Given the description of an element on the screen output the (x, y) to click on. 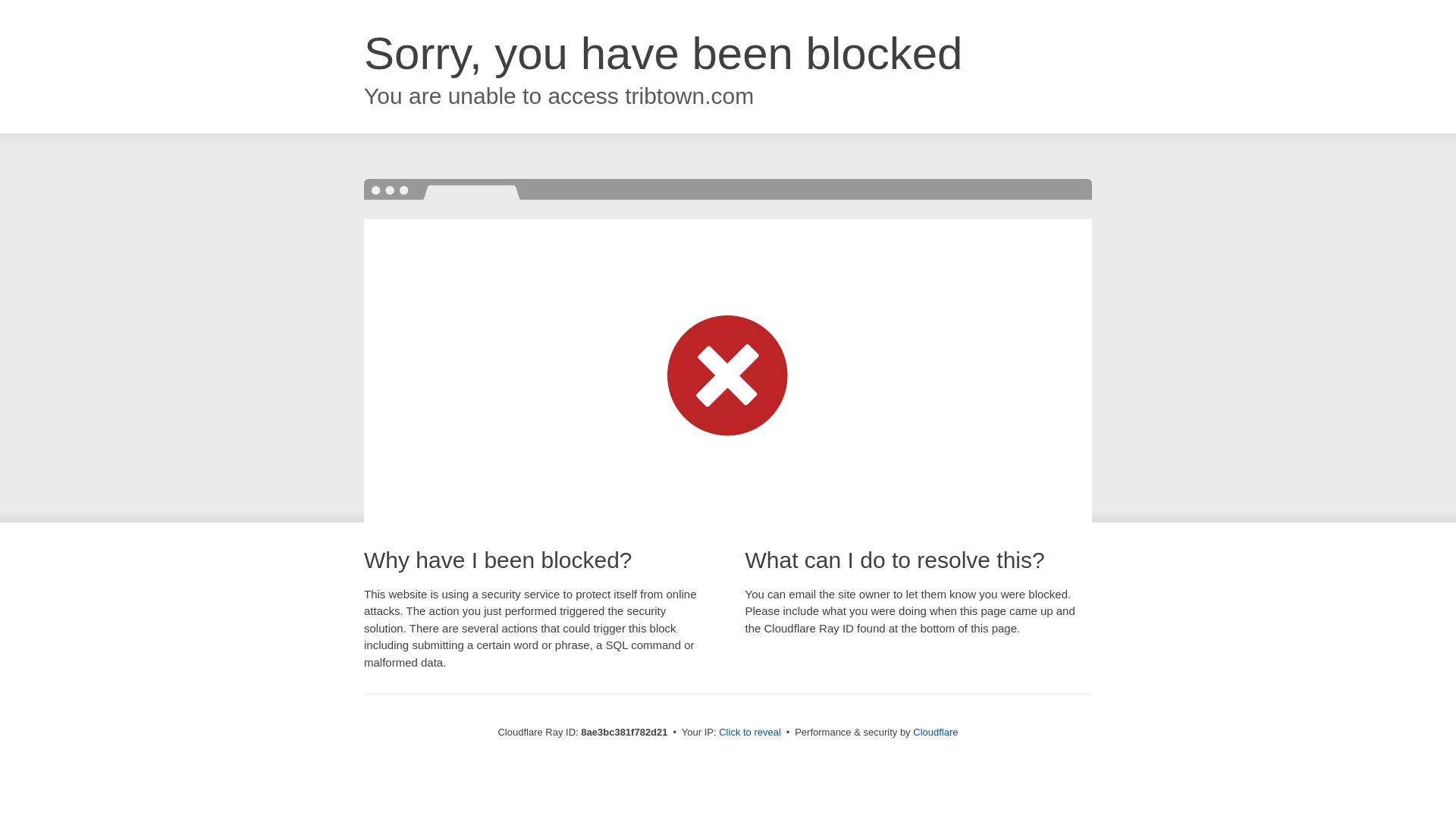
Cloudflare (935, 731)
Click to reveal (749, 732)
